Given the description of an element on the screen output the (x, y) to click on. 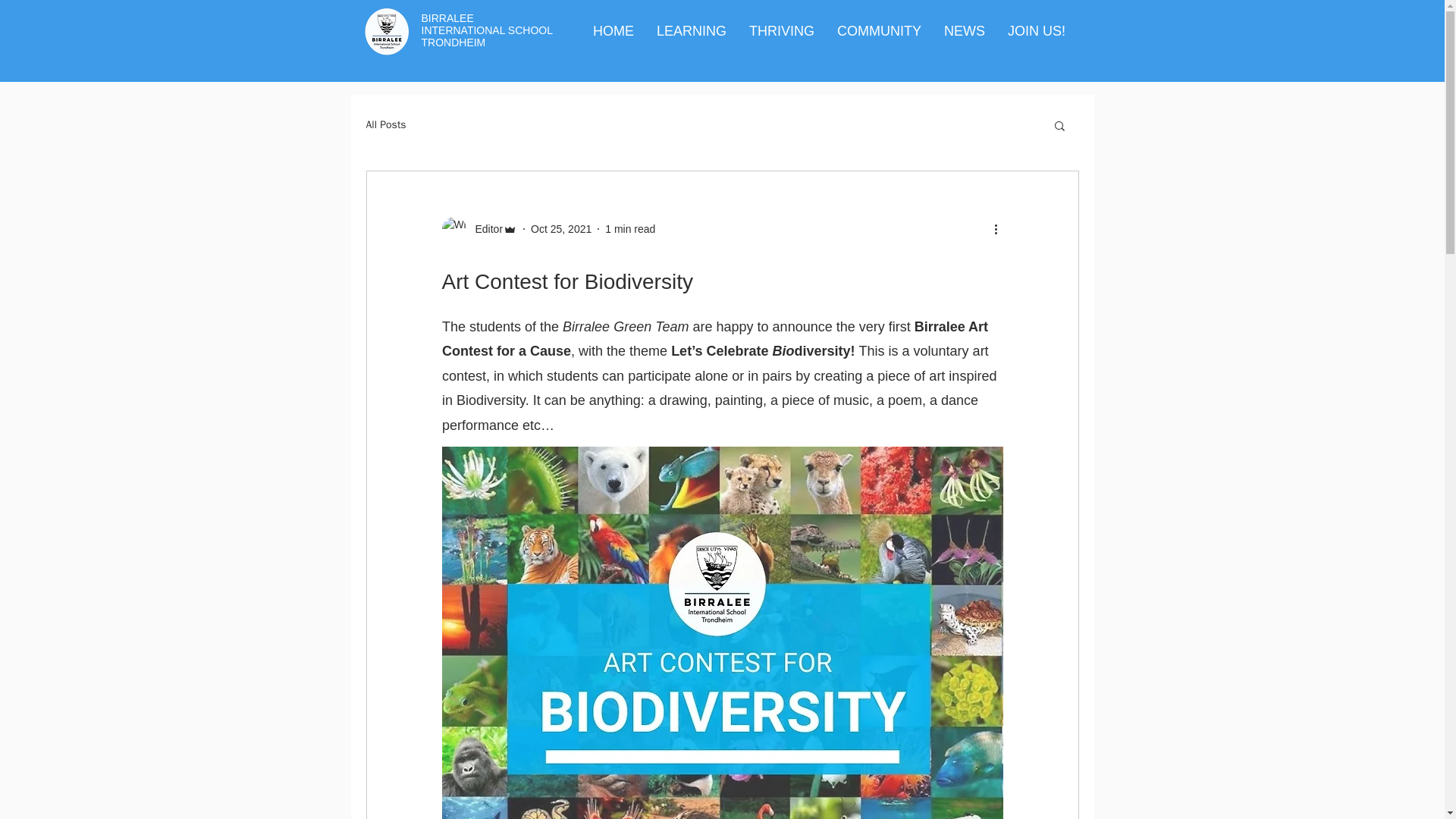
THRIVING (781, 30)
NEWS (964, 30)
HOME (612, 30)
All Posts (385, 124)
COMMUNITY (879, 30)
JOIN US! (1036, 30)
Editor (478, 228)
Oct 25, 2021 (561, 228)
LEARNING (691, 30)
1 min read (630, 228)
